Given the description of an element on the screen output the (x, y) to click on. 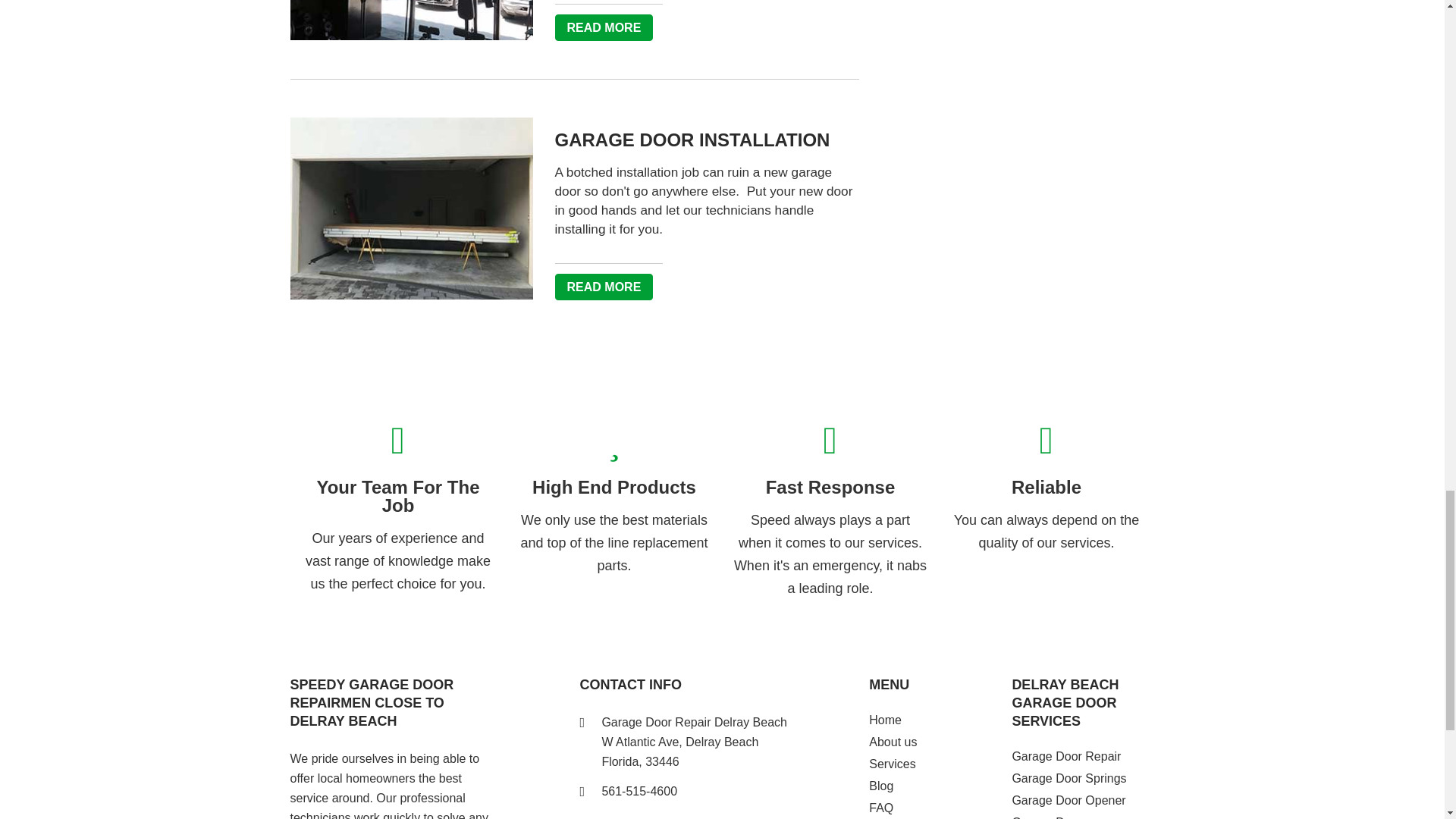
READ MORE (603, 27)
